Given the description of an element on the screen output the (x, y) to click on. 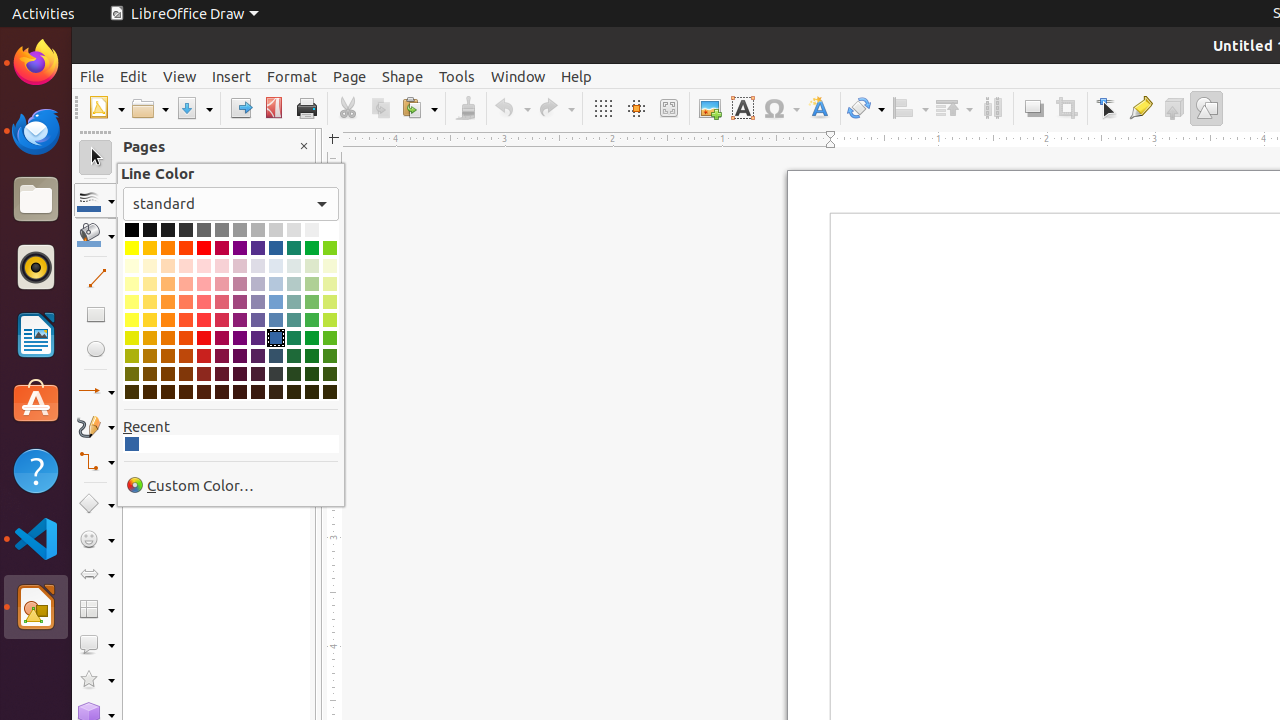
Light Brick 4 Element type: list-item (186, 266)
Dark Teal 3 Element type: list-item (294, 374)
Dark Gray 1 Element type: list-item (204, 230)
Indigo Element type: list-item (258, 248)
LibreOffice Draw Element type: push-button (36, 607)
